Given the description of an element on the screen output the (x, y) to click on. 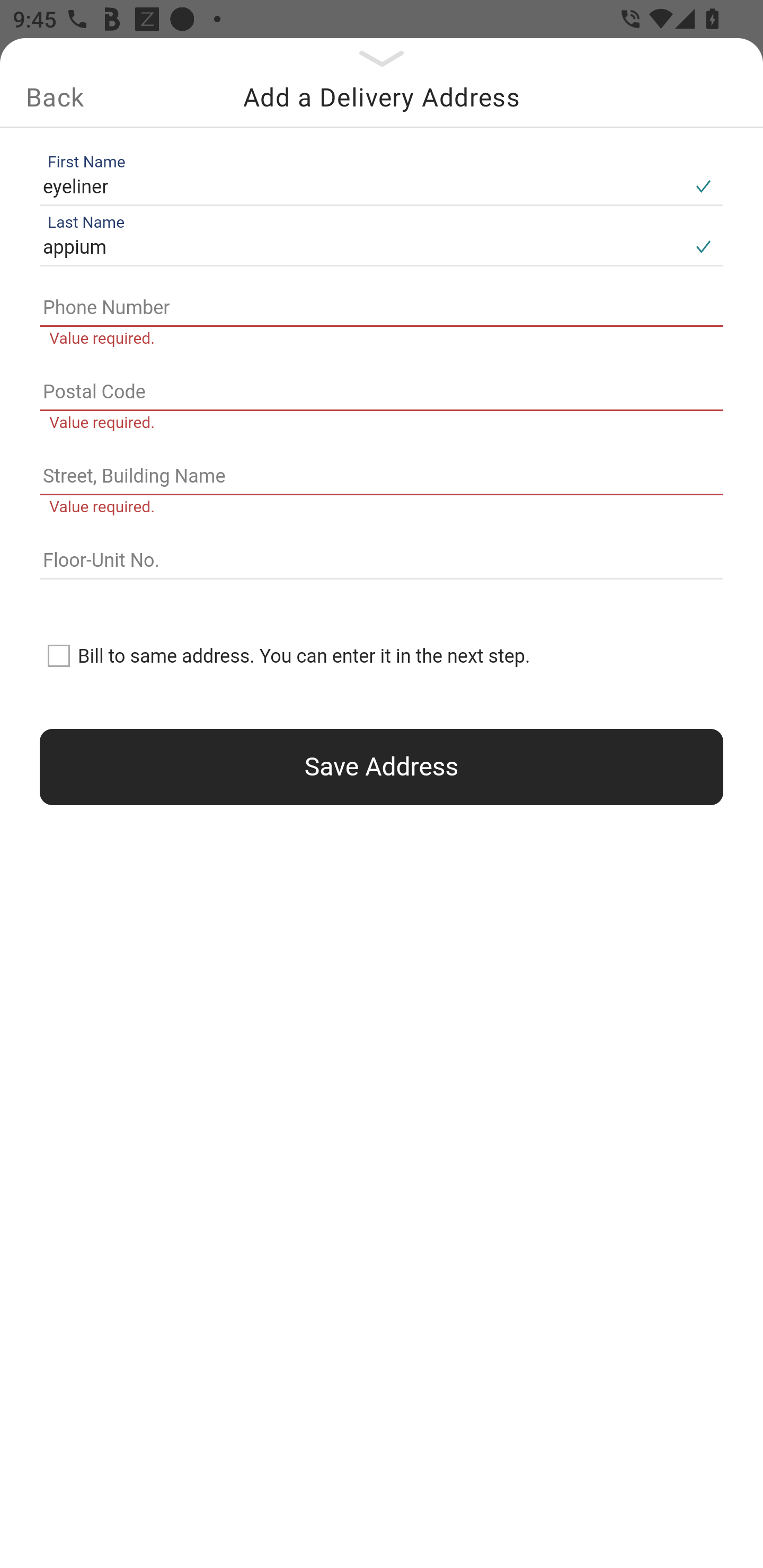
Back (54, 96)
Add a Delivery Address (381, 96)
eyeliner (361, 186)
appium (361, 247)
Save Address (381, 767)
